Given the description of an element on the screen output the (x, y) to click on. 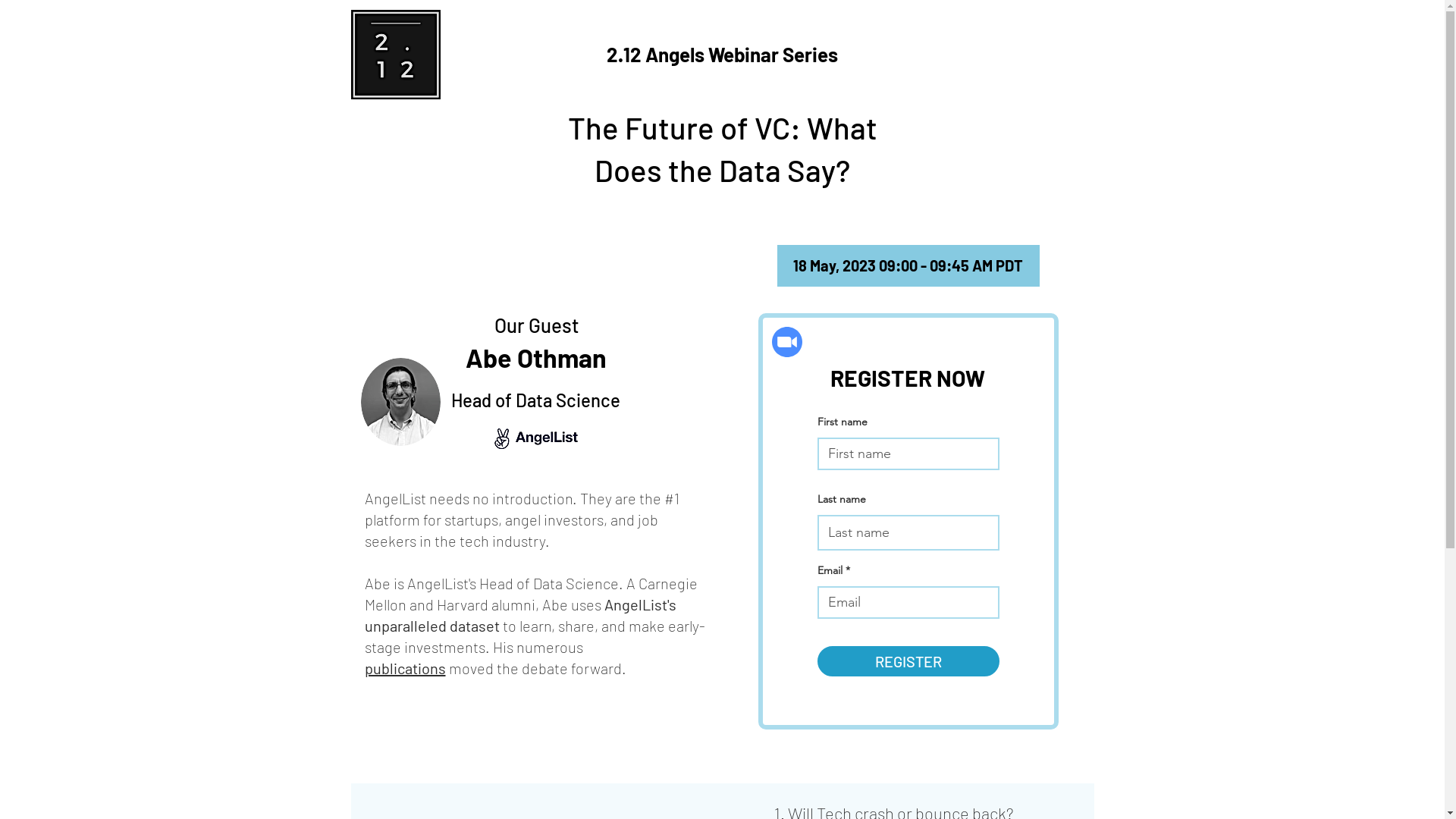
REGISTER Element type: text (908, 661)
publications Element type: text (404, 667)
